Given the description of an element on the screen output the (x, y) to click on. 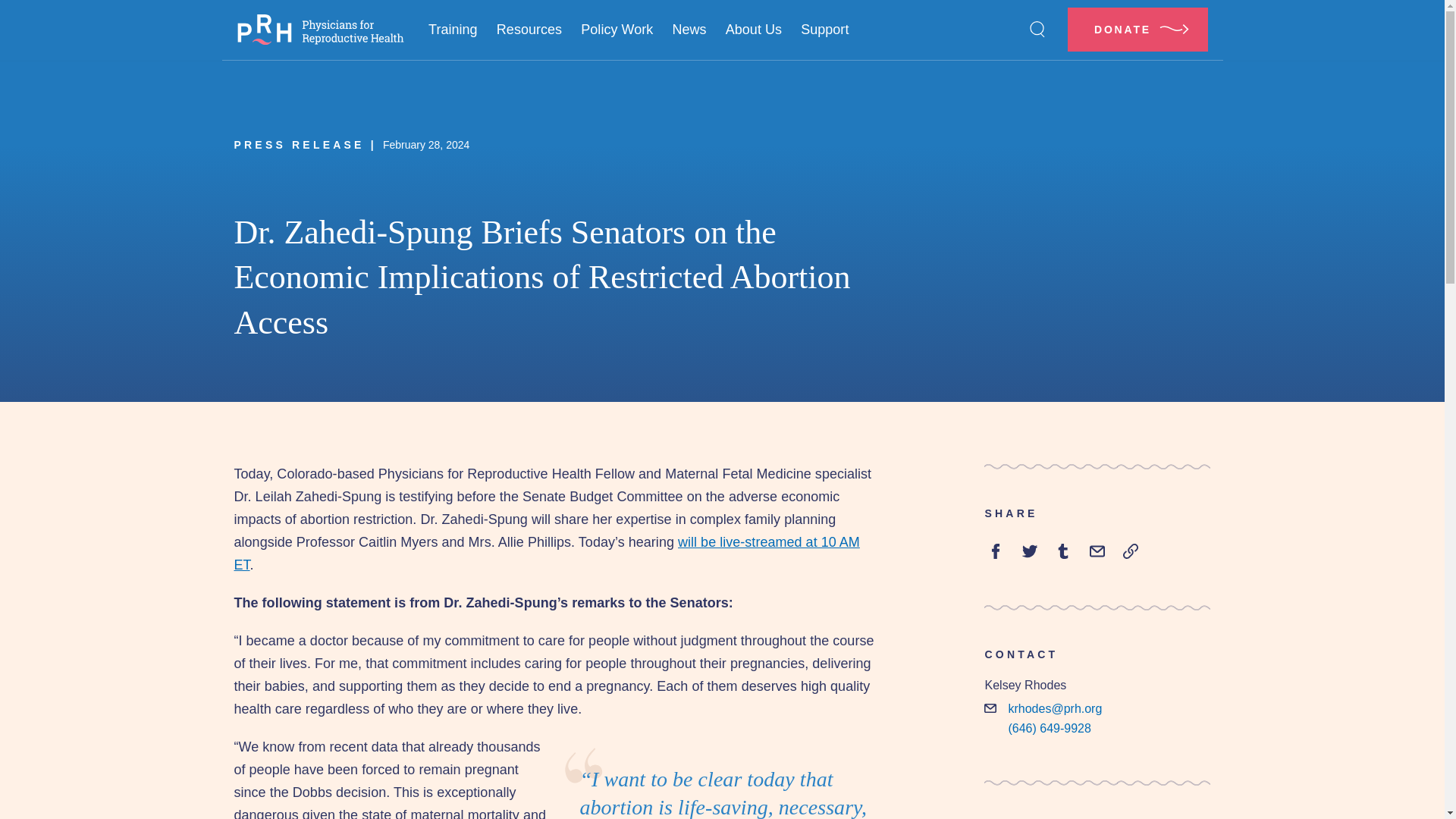
Training (452, 29)
Resources (528, 29)
Share on Facebook (994, 550)
DONATE (1137, 29)
Email link (1096, 550)
Share on Twitter (1029, 550)
Policy Work (617, 29)
Support (825, 29)
Copy link (1130, 550)
About Us (753, 29)
Search (1037, 29)
will be live-streamed at 10 AM ET (545, 553)
Physicians for Reproductive Health: Homepage (319, 29)
Share on Twitter (1063, 550)
